Given the description of an element on the screen output the (x, y) to click on. 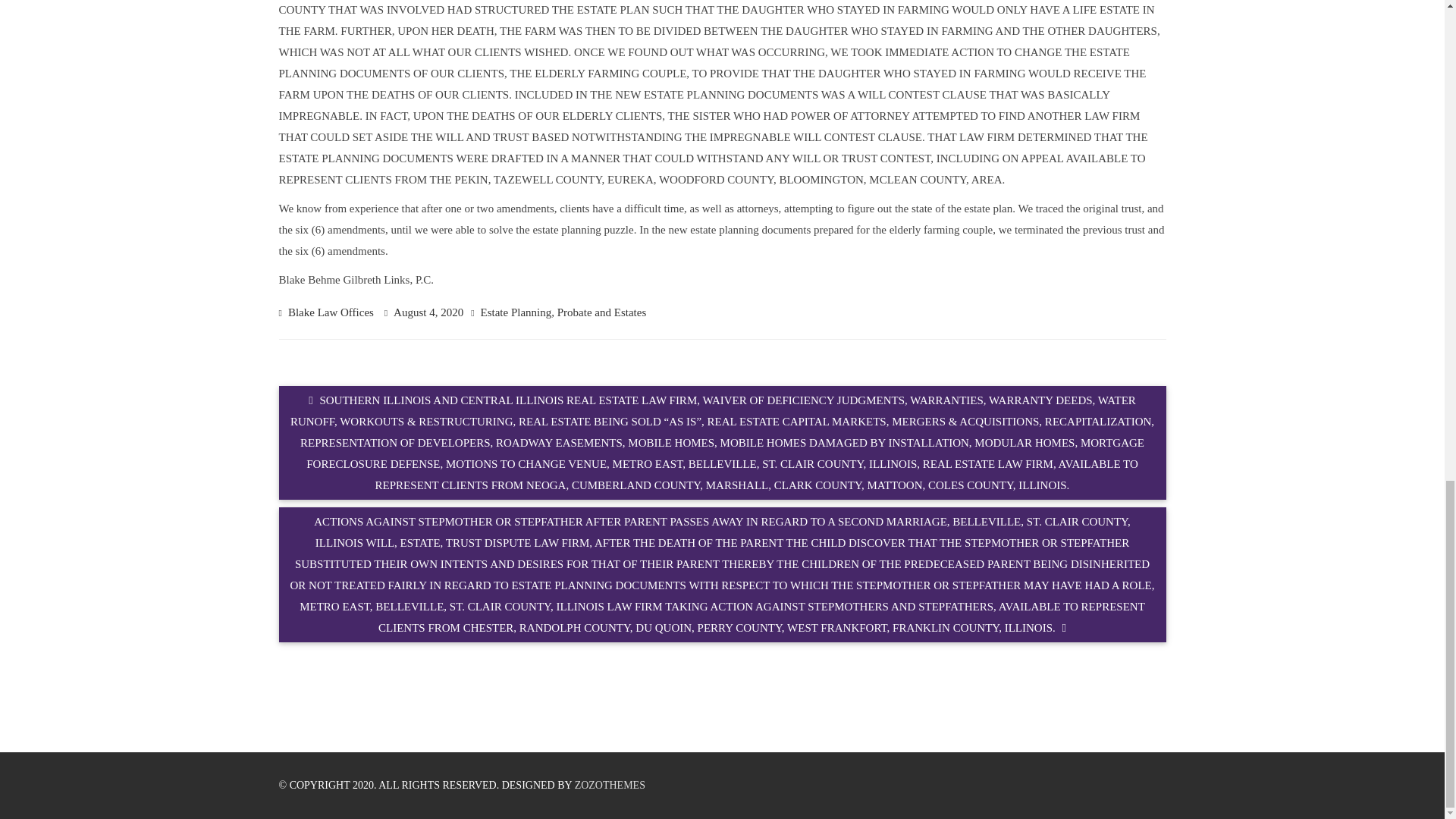
ZOZOTHEMES (610, 785)
Blake Law Offices (331, 312)
Estate Planning (515, 312)
Probate and Estates (601, 312)
